Given the description of an element on the screen output the (x, y) to click on. 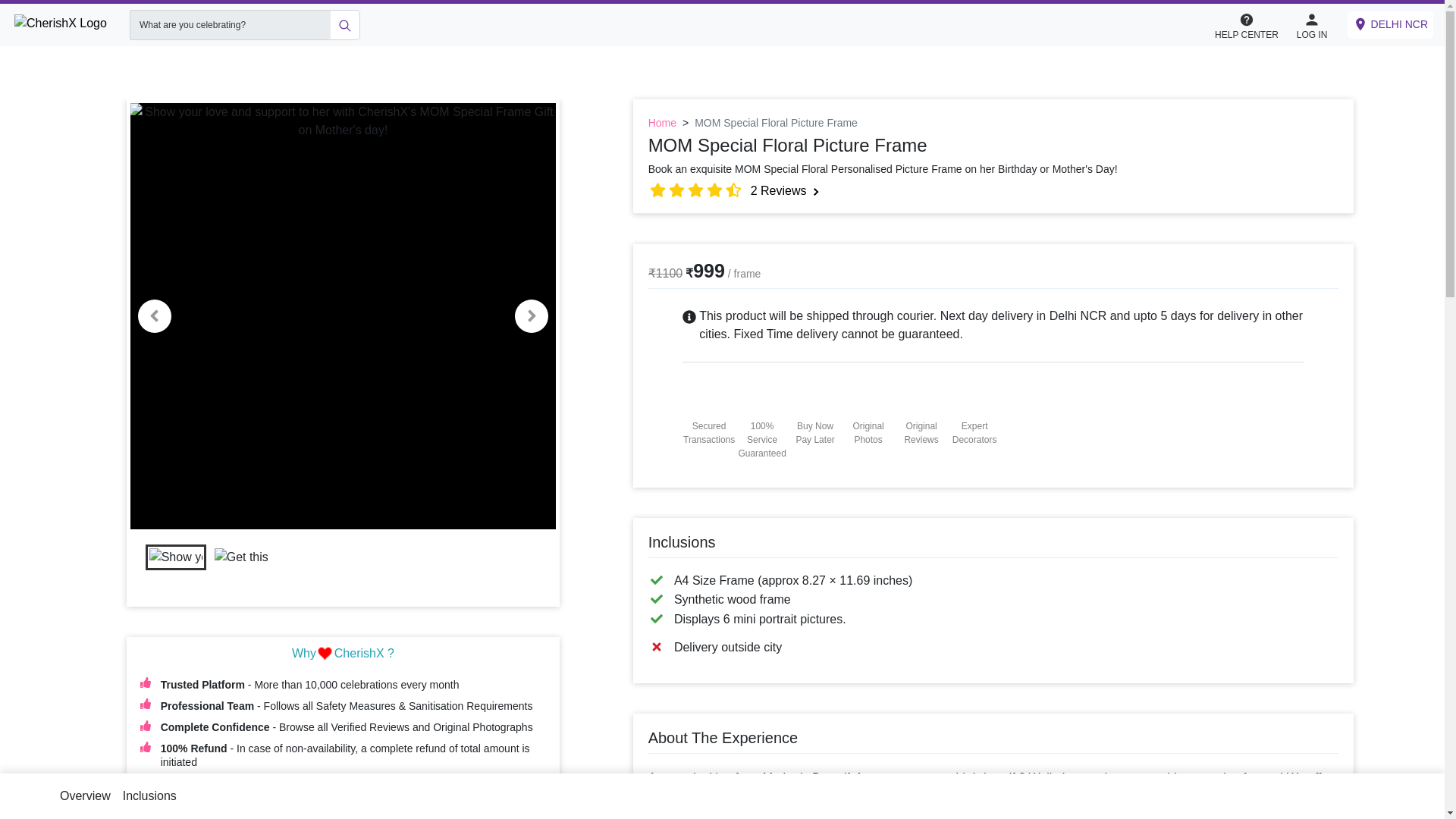
DELHI NCR (1390, 24)
HELP CENTER (1245, 24)
Home (662, 122)
What are you celebrating? (229, 24)
What are you celebrating? (229, 24)
HELP CENTER (1253, 25)
LOG IN (1312, 24)
